Given the description of an element on the screen output the (x, y) to click on. 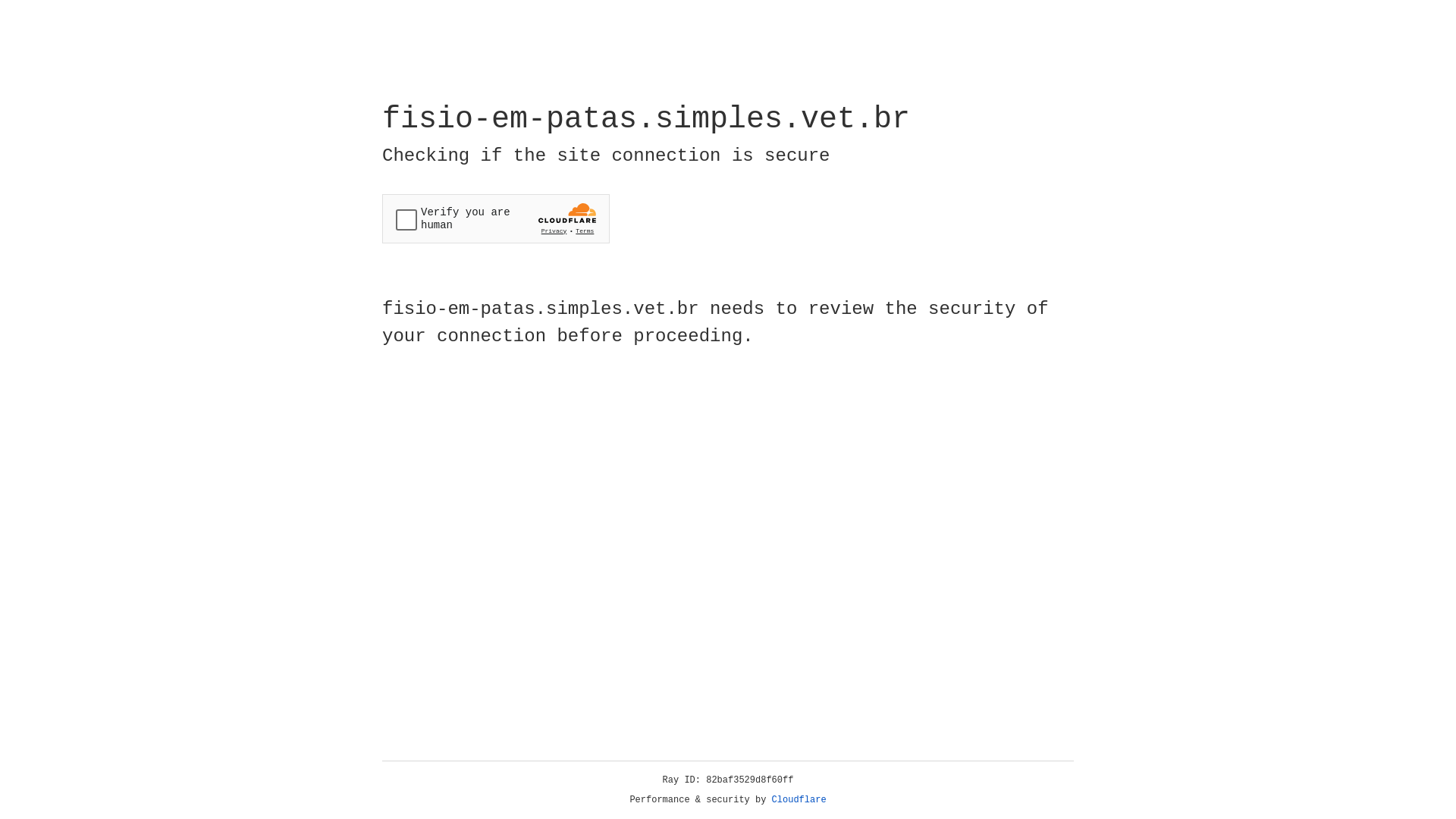
Widget containing a Cloudflare security challenge Element type: hover (495, 218)
Cloudflare Element type: text (798, 799)
